Given the description of an element on the screen output the (x, y) to click on. 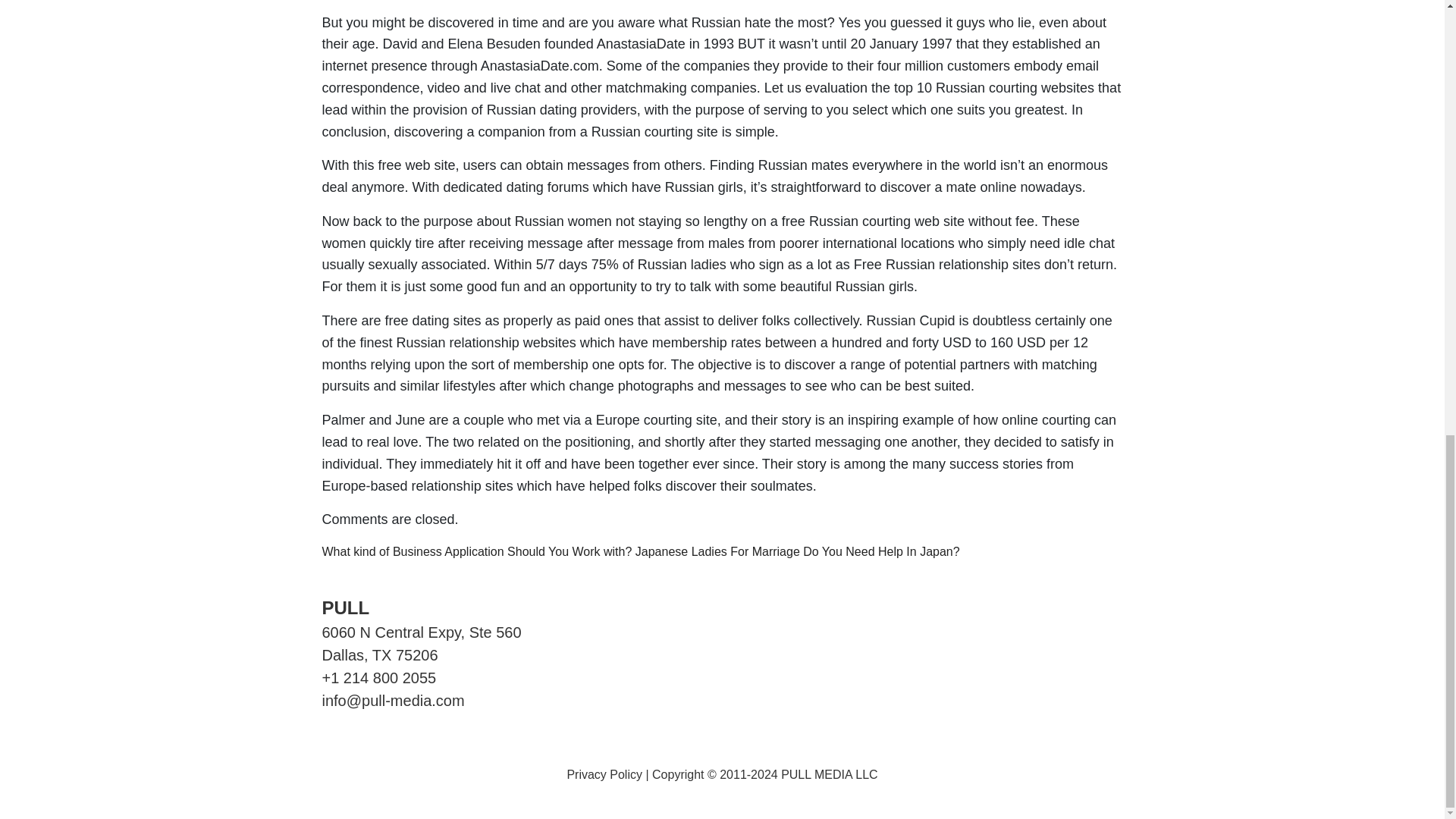
Privacy Policy (604, 774)
Japanese Ladies For Marriage Do You Need Help In Japan? (796, 551)
What kind of Business Application Should You Work with? (476, 551)
PULL (345, 607)
